Given the description of an element on the screen output the (x, y) to click on. 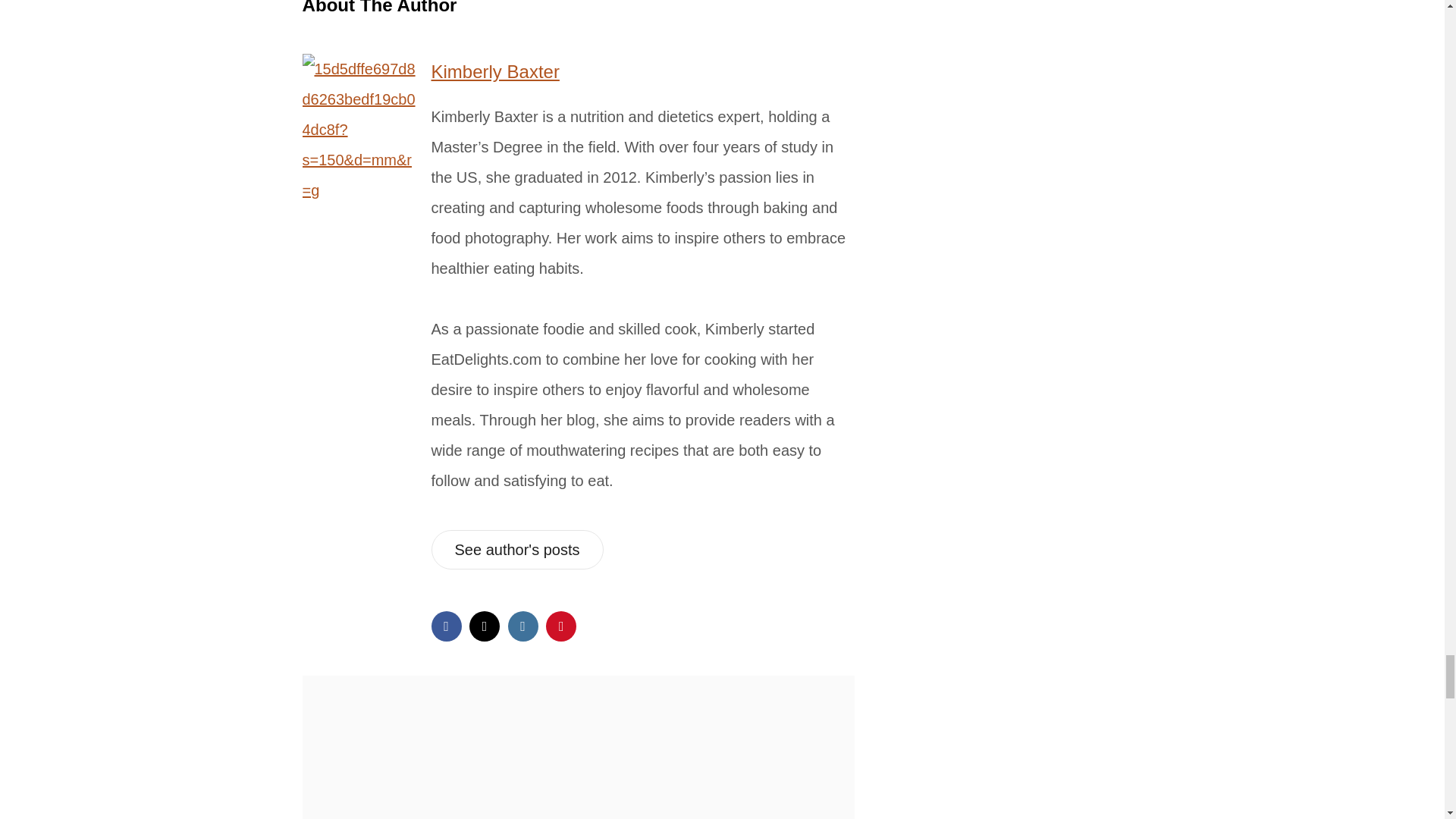
Kimberly Baxter (494, 71)
See author's posts (516, 549)
